Given the description of an element on the screen output the (x, y) to click on. 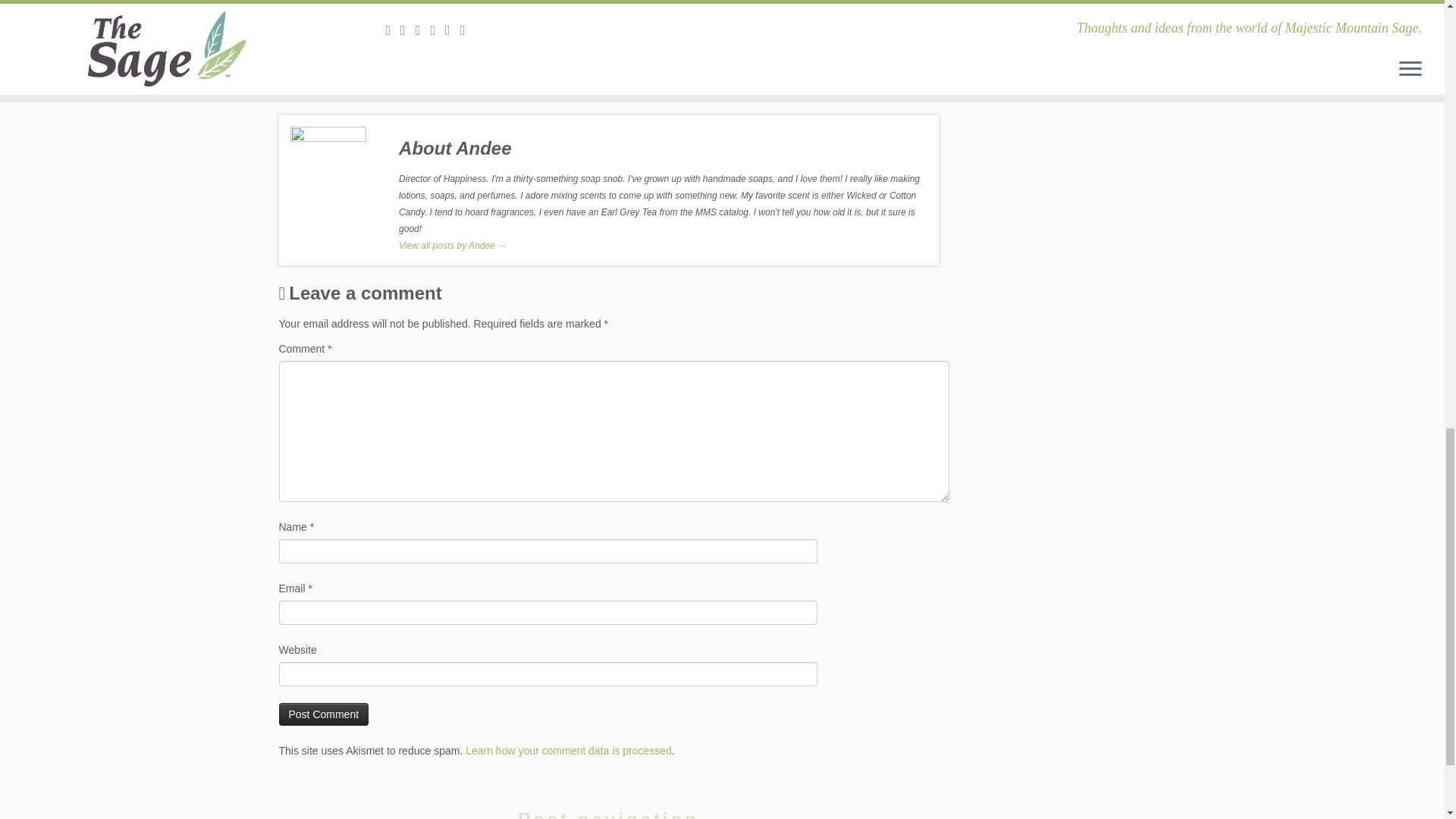
Learn how your comment data is processed (568, 750)
Post Comment (324, 713)
Post Comment (324, 713)
